Given the description of an element on the screen output the (x, y) to click on. 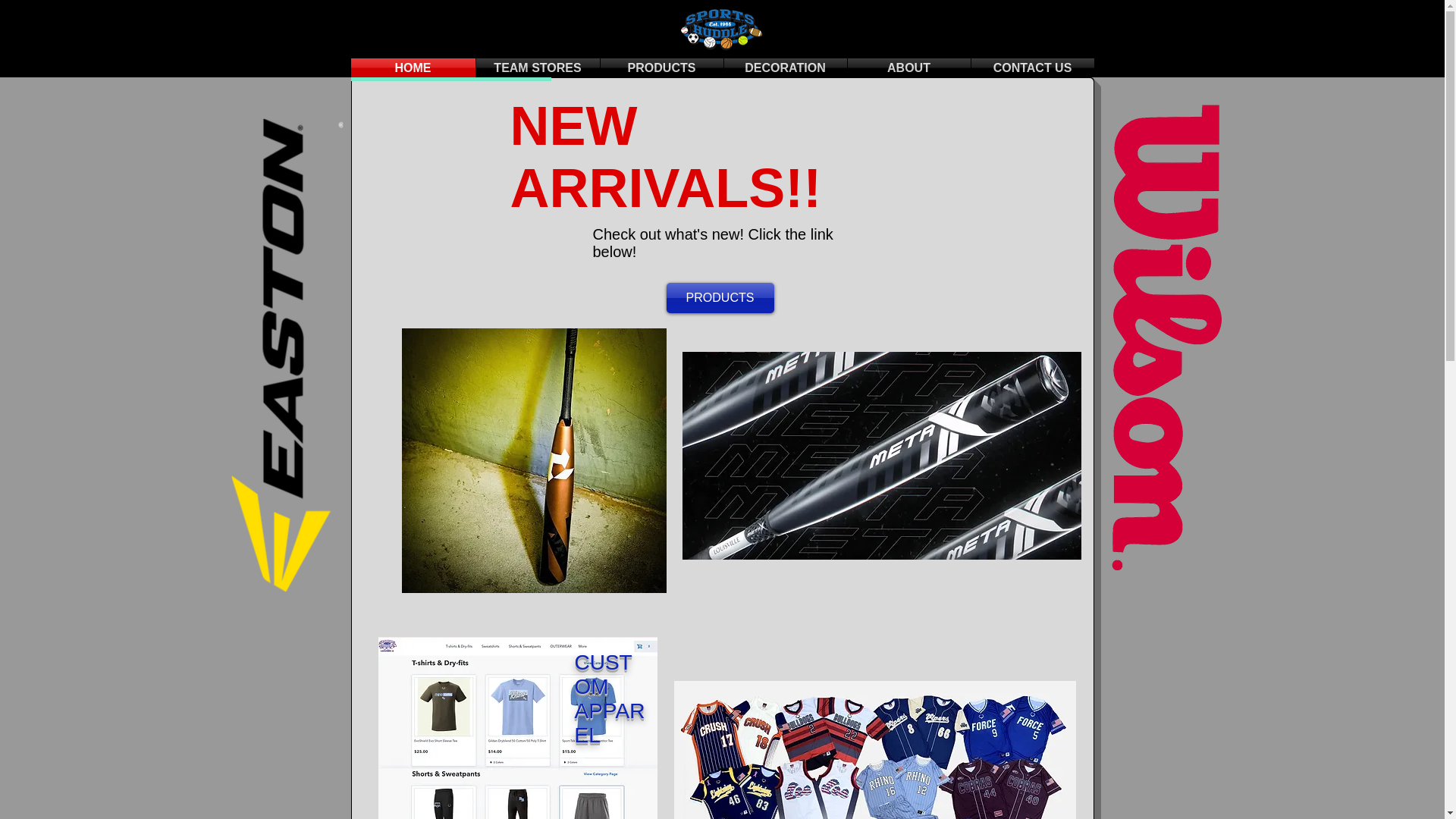
HOME (412, 67)
ABOUT (909, 67)
PRODUCTS (719, 297)
DECORATION (784, 67)
PRODUCTS (661, 67)
TEAM STORES (537, 67)
CONTACT US (1032, 67)
